Given the description of an element on the screen output the (x, y) to click on. 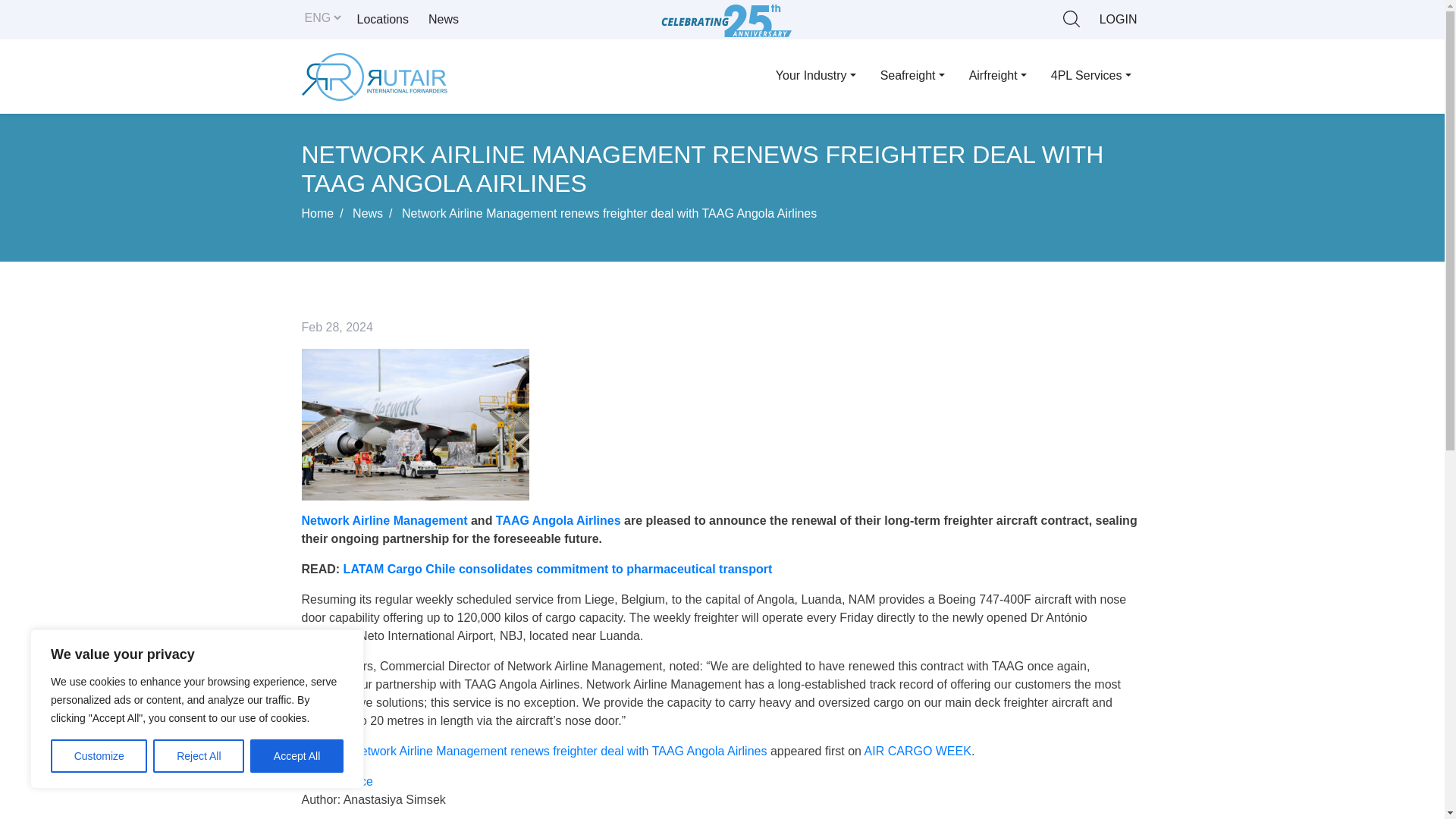
Your Industry (814, 75)
Airfreight (997, 75)
Customize (98, 756)
Accept All (296, 756)
Seafreight (911, 75)
4PL Services (1090, 75)
Locations (382, 19)
News (443, 19)
LOGIN (1117, 19)
